Given the description of an element on the screen output the (x, y) to click on. 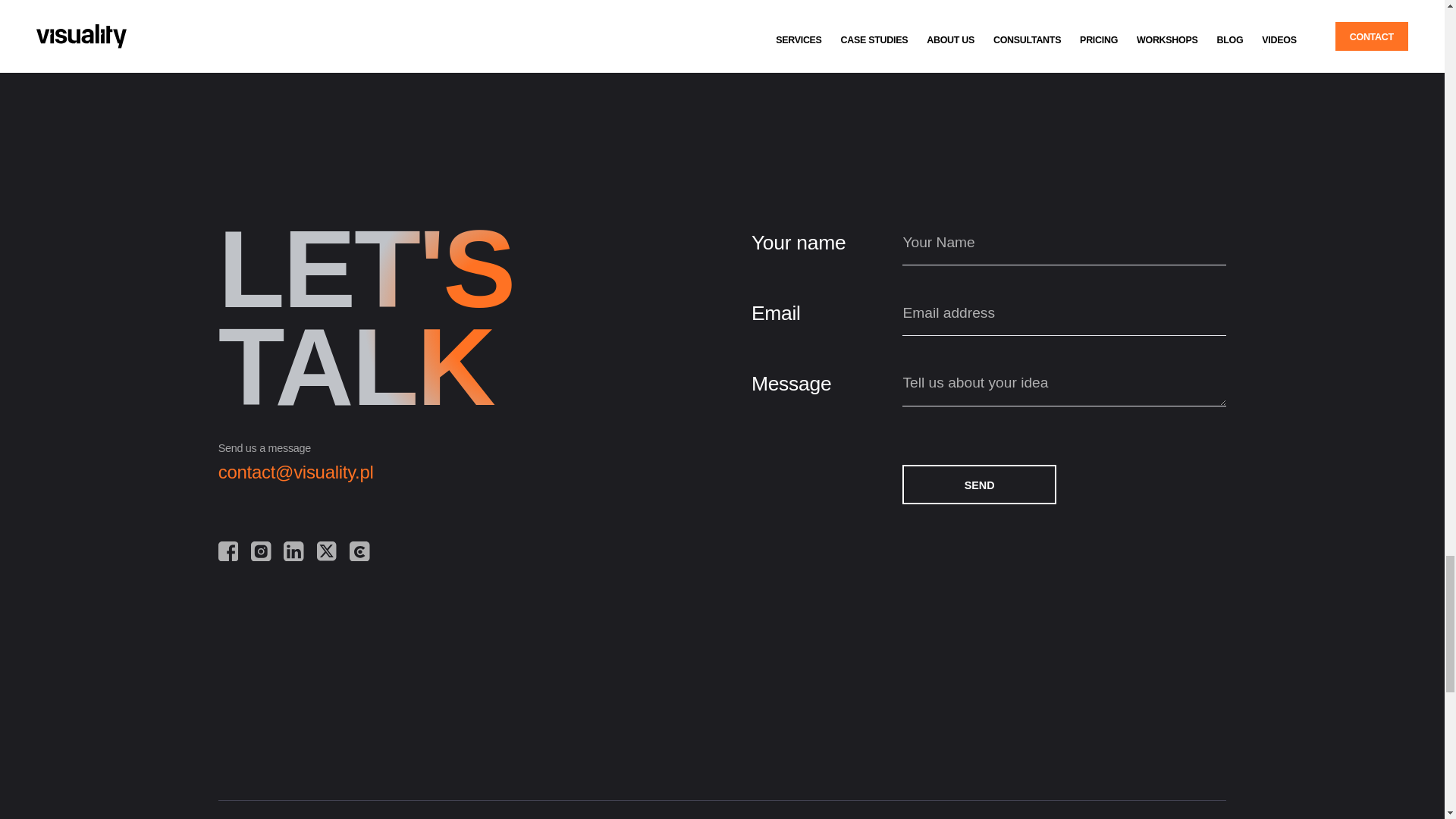
Send (978, 484)
